Given the description of an element on the screen output the (x, y) to click on. 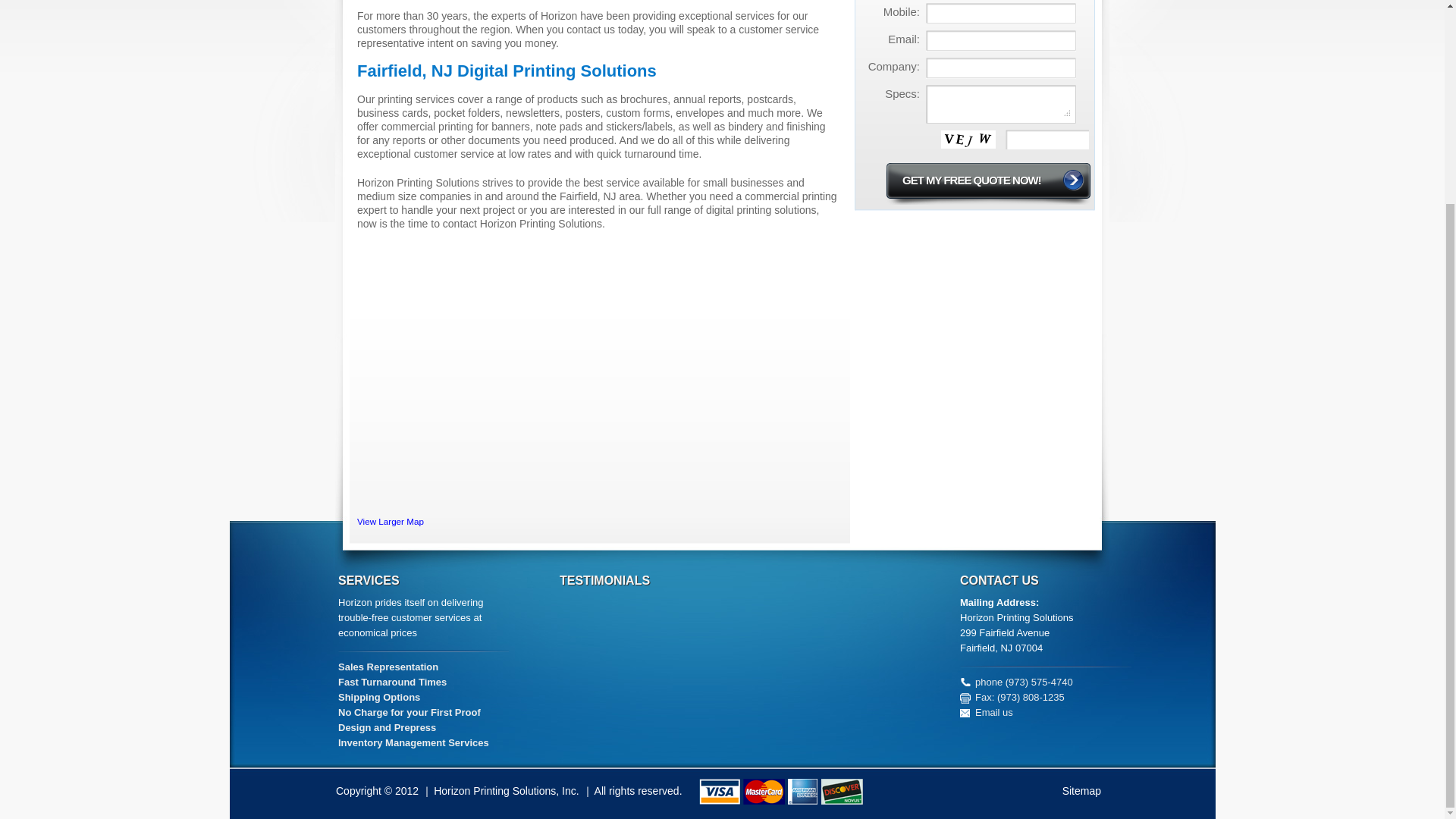
Shipping Options (378, 696)
Design and Prepress (386, 727)
No Charge for your First Proof (408, 712)
Fast Turnaround Times (391, 681)
Sales Representation (387, 666)
Inventory Management Services (413, 742)
get my free quote now! (987, 183)
Sitemap (1081, 790)
Email us (994, 712)
View Larger Map (389, 521)
